Given the description of an element on the screen output the (x, y) to click on. 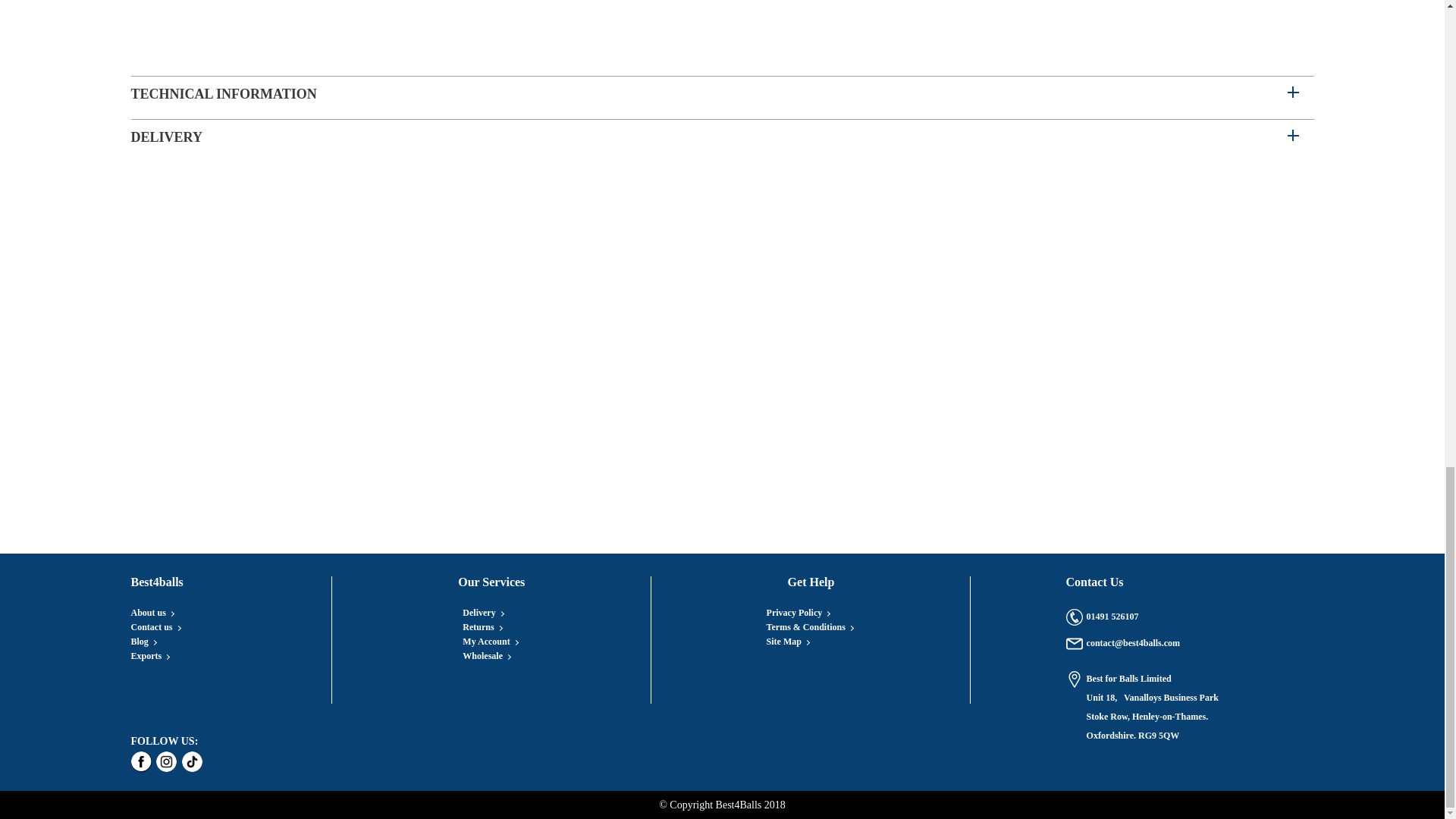
Delivery (482, 612)
Site Map (788, 641)
Contact us (155, 626)
About us (152, 612)
Returns (481, 626)
Privacy Policy (798, 612)
Wholesale (487, 655)
My Account (489, 641)
Blog (143, 641)
Exports (149, 655)
